Given the description of an element on the screen output the (x, y) to click on. 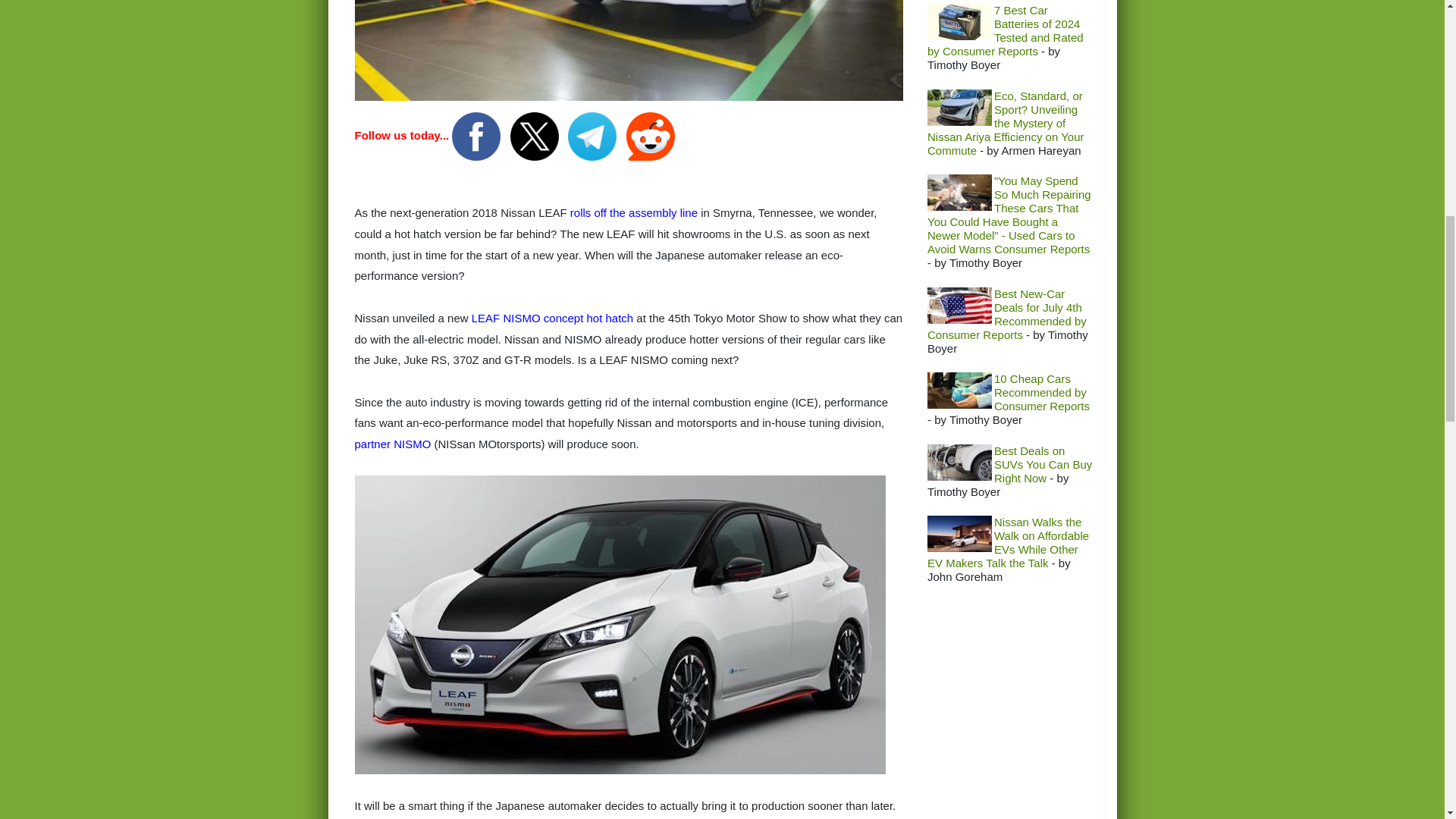
rolls off the assembly line (633, 212)
Join us on Telegram! (593, 134)
Join us on Reddit! (650, 134)
partner NISMO (392, 443)
LEAF NISMO concept hot hatch (552, 318)
